Given the description of an element on the screen output the (x, y) to click on. 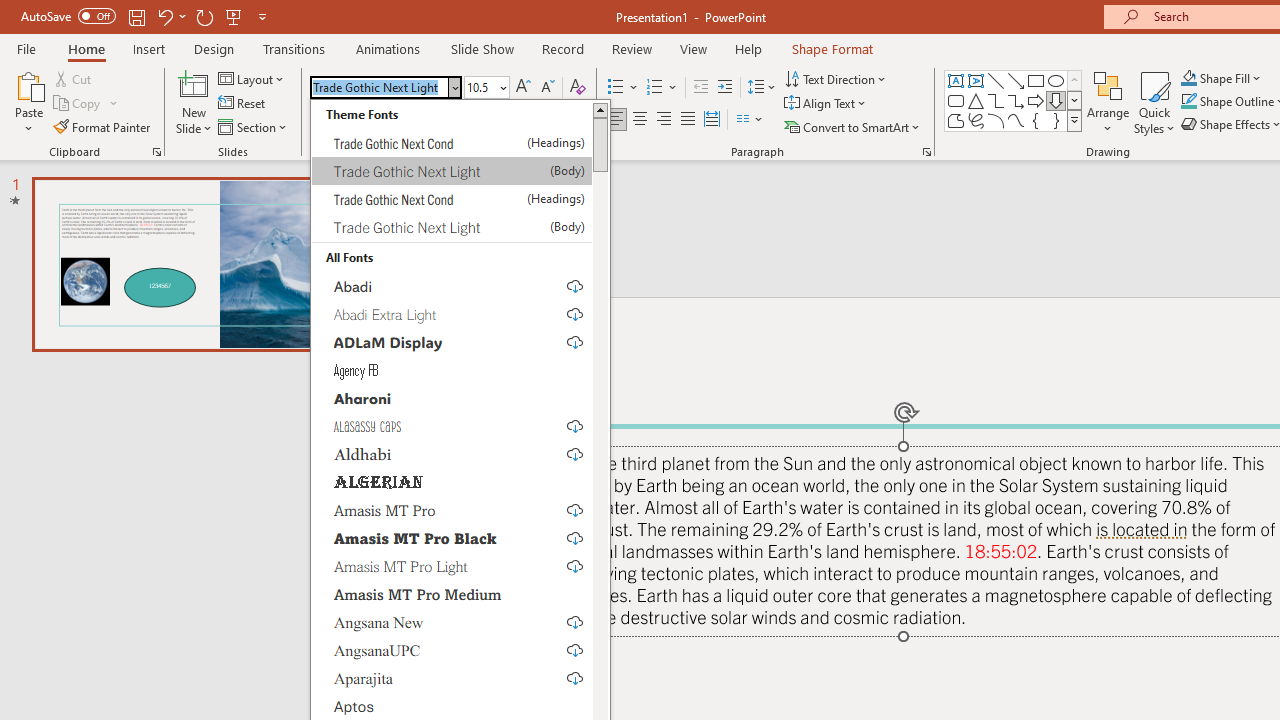
Text Box (955, 80)
AutoSave (68, 16)
Customize Quick Access Toolbar (262, 15)
Bold (320, 119)
Strikethrough (416, 119)
Alasassy Caps, select to download (451, 425)
Text Direction (836, 78)
Line Arrow (1016, 80)
Copy (78, 103)
Save (136, 15)
Isosceles Triangle (975, 100)
Increase Font Size (522, 87)
Arc (995, 120)
Font... (588, 151)
